Given the description of an element on the screen output the (x, y) to click on. 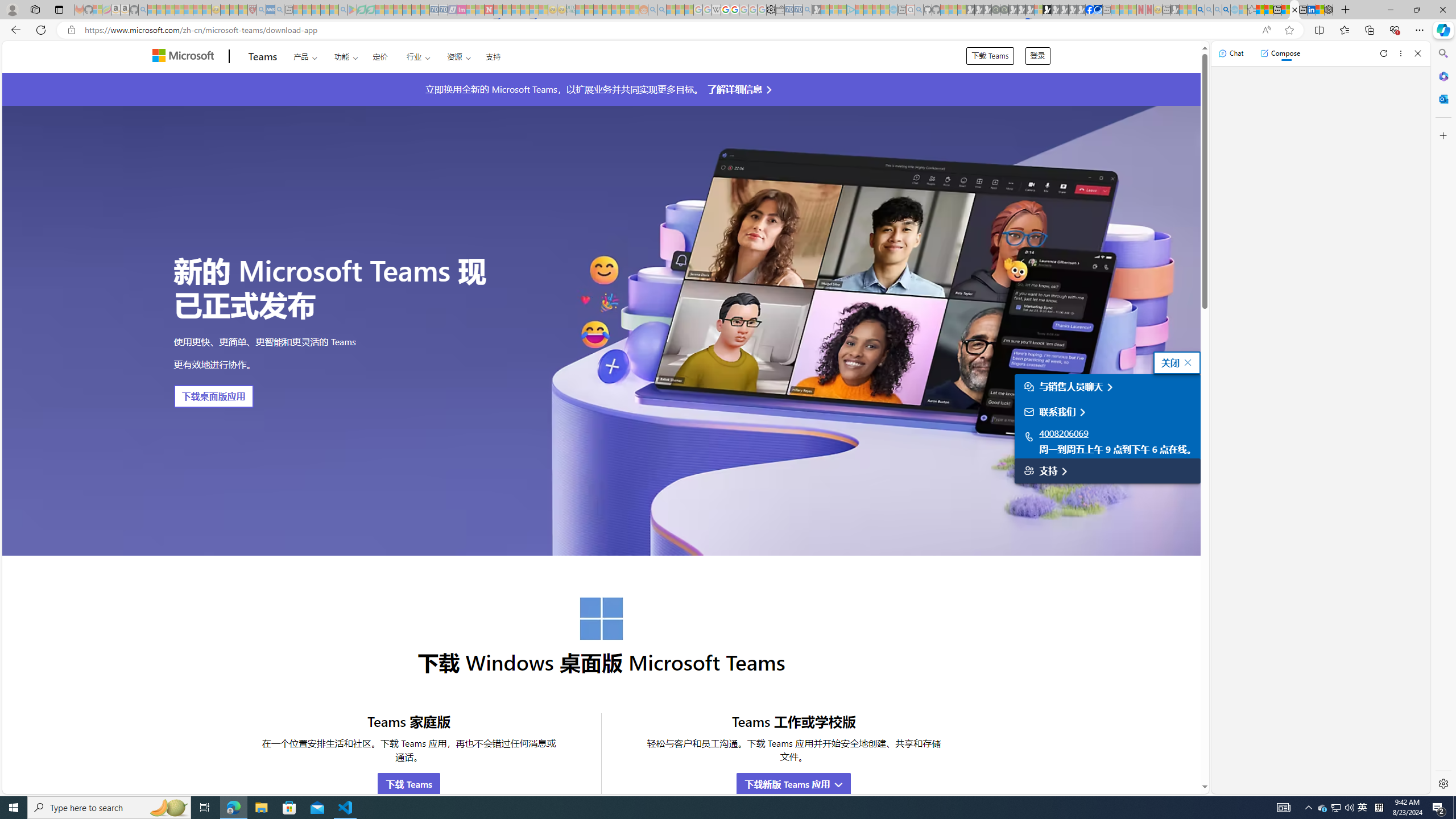
Pets - MSN - Sleeping (324, 9)
MSNBC - MSN - Sleeping (579, 9)
AQI & Health | AirNow.gov (1098, 9)
Home | Sky Blue Bikes - Sky Blue Bikes - Sleeping (892, 9)
google - Search - Sleeping (342, 9)
New Report Confirms 2023 Was Record Hot | Watch - Sleeping (188, 9)
Nordace | Facebook (1089, 9)
